Given the description of an element on the screen output the (x, y) to click on. 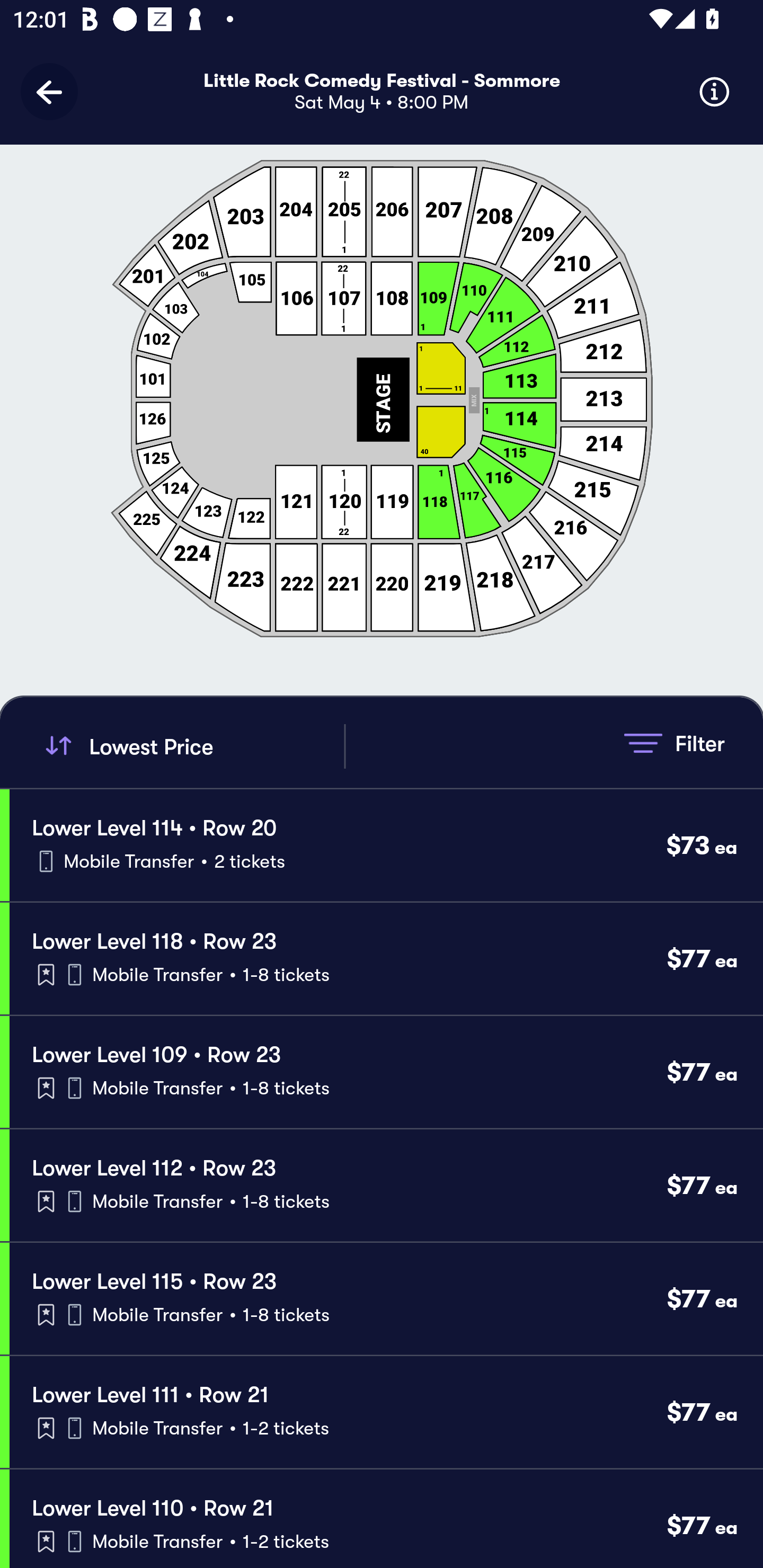
Lowest Price (191, 746)
Filter (674, 743)
